Given the description of an element on the screen output the (x, y) to click on. 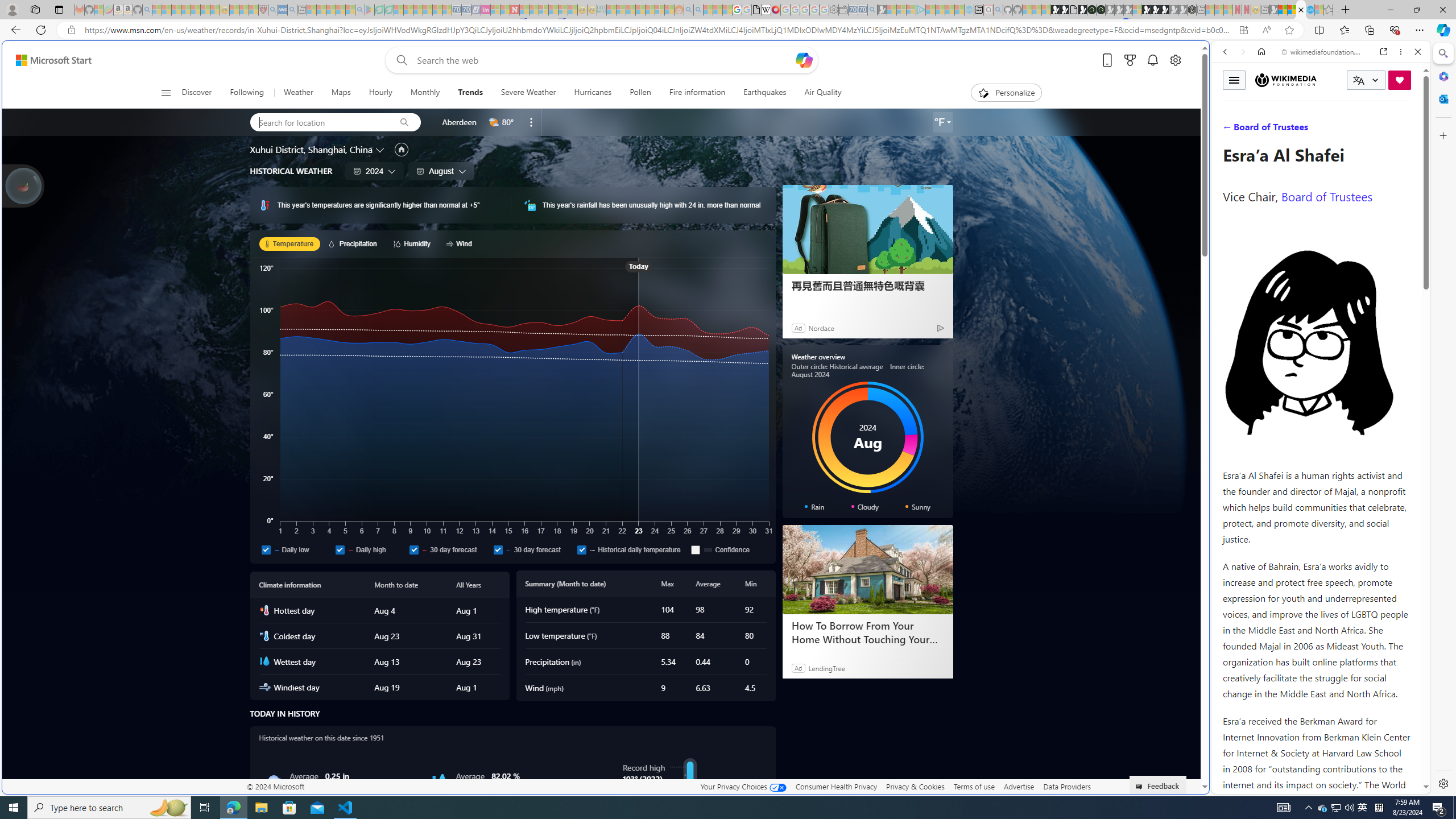
Fire information (696, 92)
Tabs you've opened (885, 151)
Wind (460, 243)
CURRENT LANGUAGE: (1366, 80)
